Given the description of an element on the screen output the (x, y) to click on. 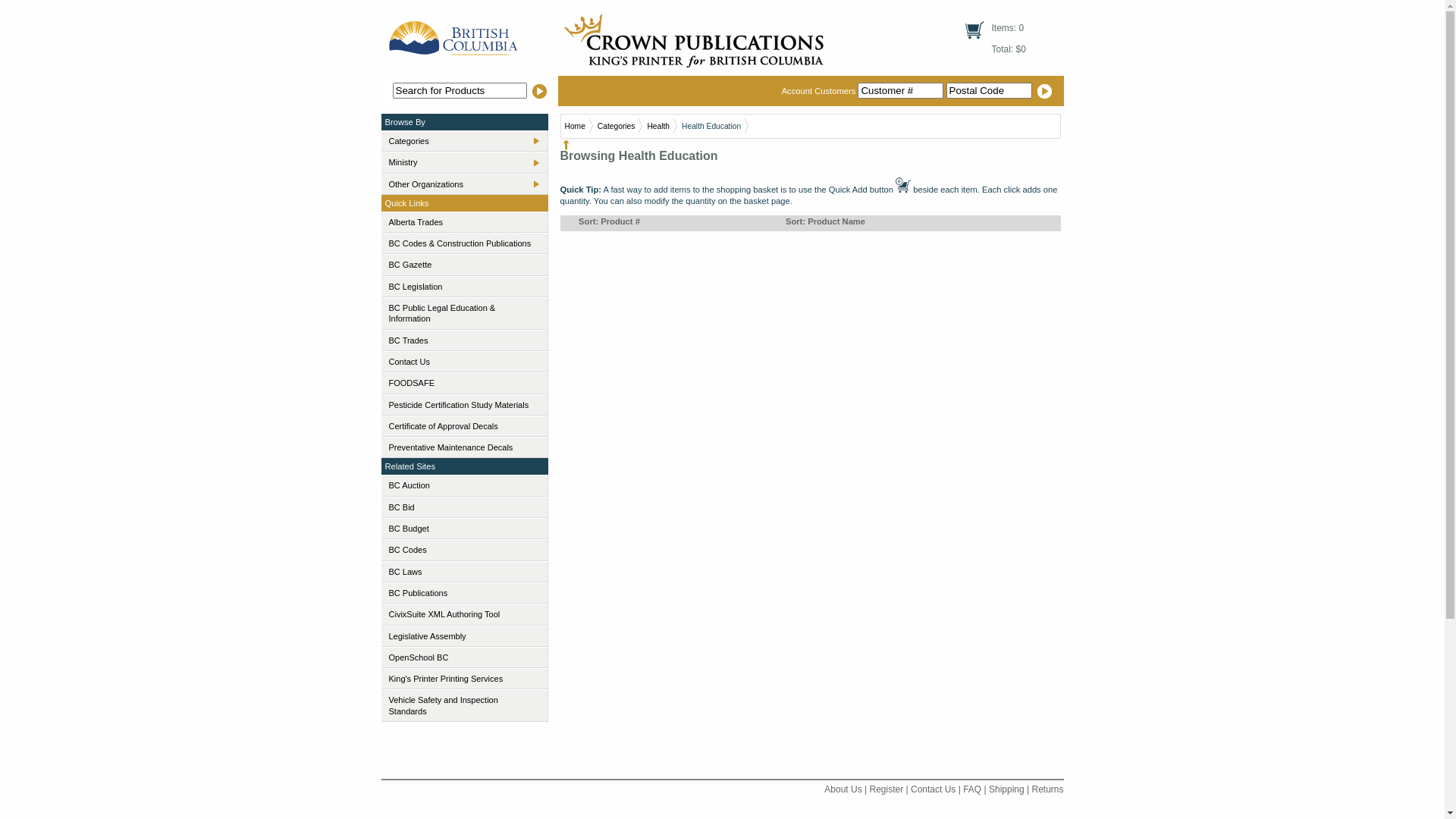
FAQ Element type: text (972, 789)
Categories Element type: text (616, 126)
BC Auction Element type: text (463, 484)
BC Public Legal Education & Information Element type: text (463, 313)
Certificate of Approval Decals Element type: text (463, 425)
FOODSAFE Element type: text (463, 382)
BC Laws Element type: text (463, 571)
BC Publications Element type: text (463, 592)
BC Budget Element type: text (463, 528)
BC Bid Element type: text (463, 506)
Vehicle Safety and Inspection Standards Element type: text (463, 705)
Health Element type: text (657, 126)
Contact Us Element type: text (932, 789)
Shipping Element type: text (1006, 789)
BC Codes Element type: text (463, 549)
BC Codes & Construction Publications Element type: text (463, 243)
CivixSuite XML Authoring Tool Element type: text (463, 613)
Register Element type: text (886, 789)
King's Printer Printing Services Element type: text (463, 678)
Preventative Maintenance Decals Element type: text (463, 447)
Items: 0 Element type: text (1007, 27)
Home Element type: text (574, 126)
Contact Us Element type: text (463, 361)
Other Organizations Element type: text (455, 183)
Categories Element type: text (455, 140)
BC Trades Element type: text (463, 340)
Pesticide Certification Study Materials Element type: text (463, 404)
OpenSchool BC Element type: text (463, 657)
Total: $0 Element type: text (1008, 48)
Alberta Trades Element type: text (463, 221)
BC Legislation Element type: text (463, 286)
About Us Element type: text (842, 789)
Returns Element type: text (1047, 789)
Ministry Element type: text (455, 161)
BC Gazette Element type: text (463, 264)
Legislative Assembly Element type: text (463, 635)
